Given the description of an element on the screen output the (x, y) to click on. 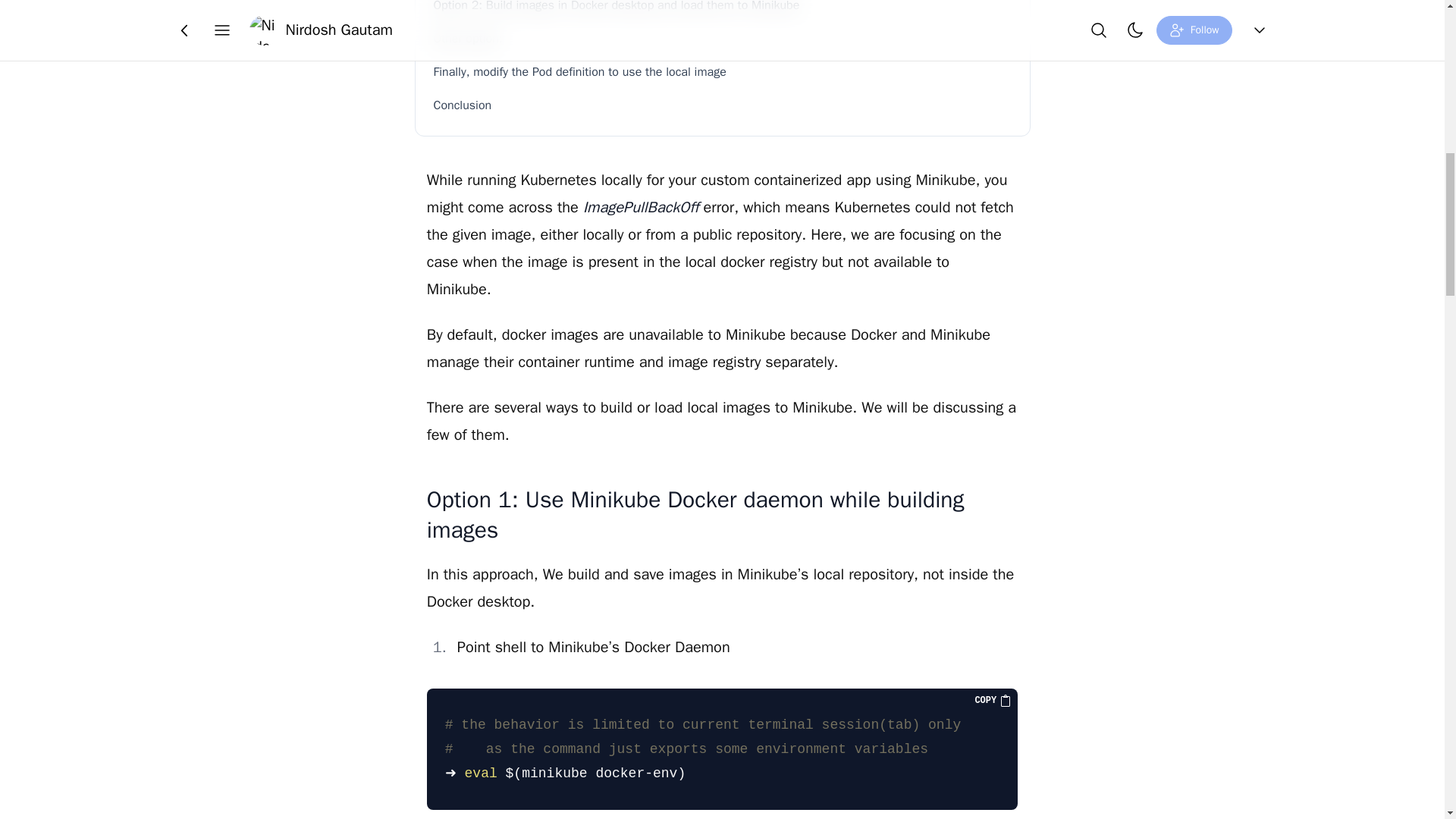
COPY (992, 700)
Add Bookmark (744, 24)
Other option: (722, 38)
Finally, modify the Pod definition to use the local image (722, 71)
Conclusion (722, 105)
